Given the description of an element on the screen output the (x, y) to click on. 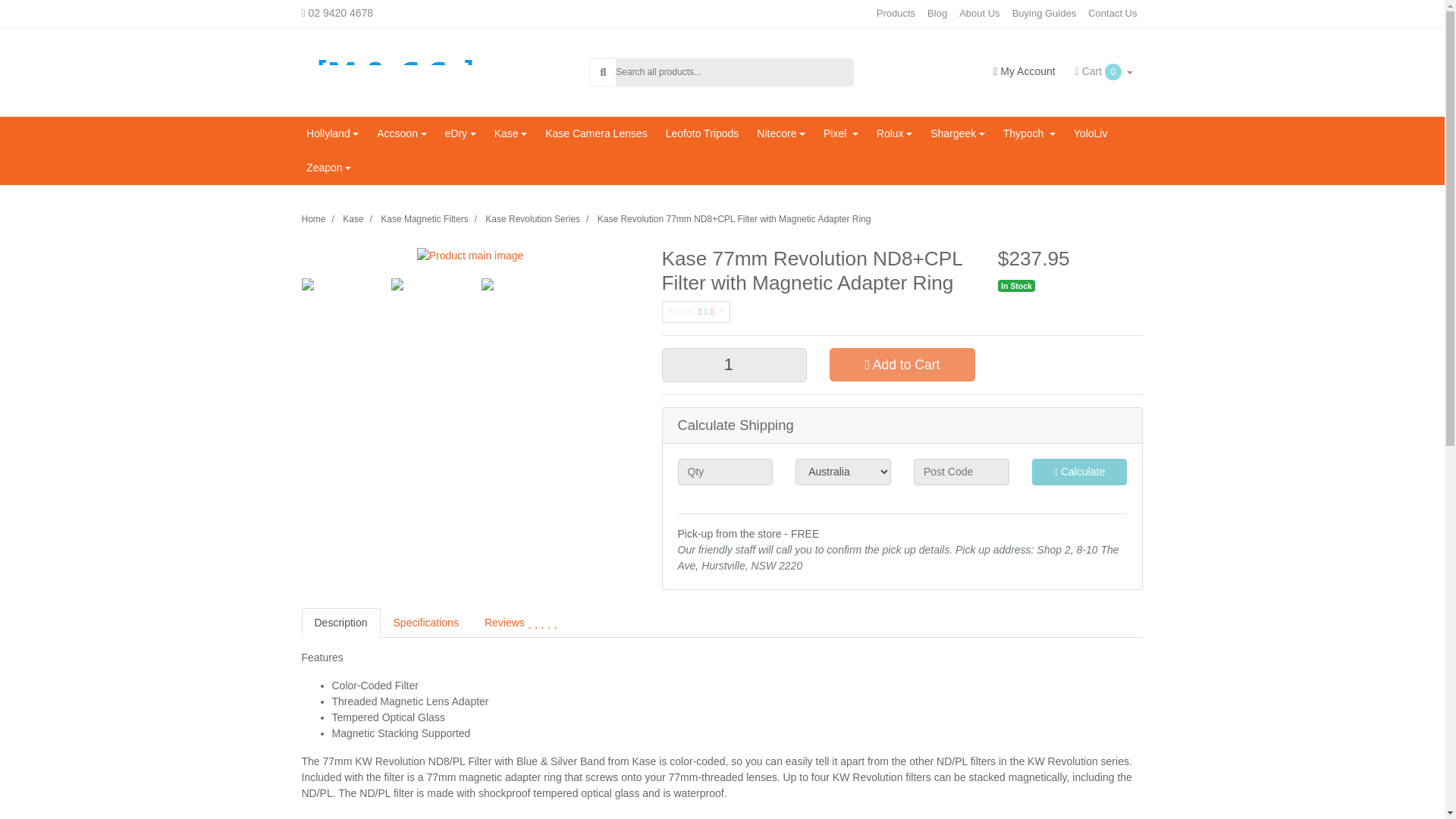
Blog (937, 13)
Products (895, 13)
Hollyland (332, 133)
Calculate (1079, 471)
Kase (509, 133)
eDry (459, 133)
My Account (1024, 71)
1 (733, 365)
02 9420 4678 (355, 12)
Search (602, 71)
